Given the description of an element on the screen output the (x, y) to click on. 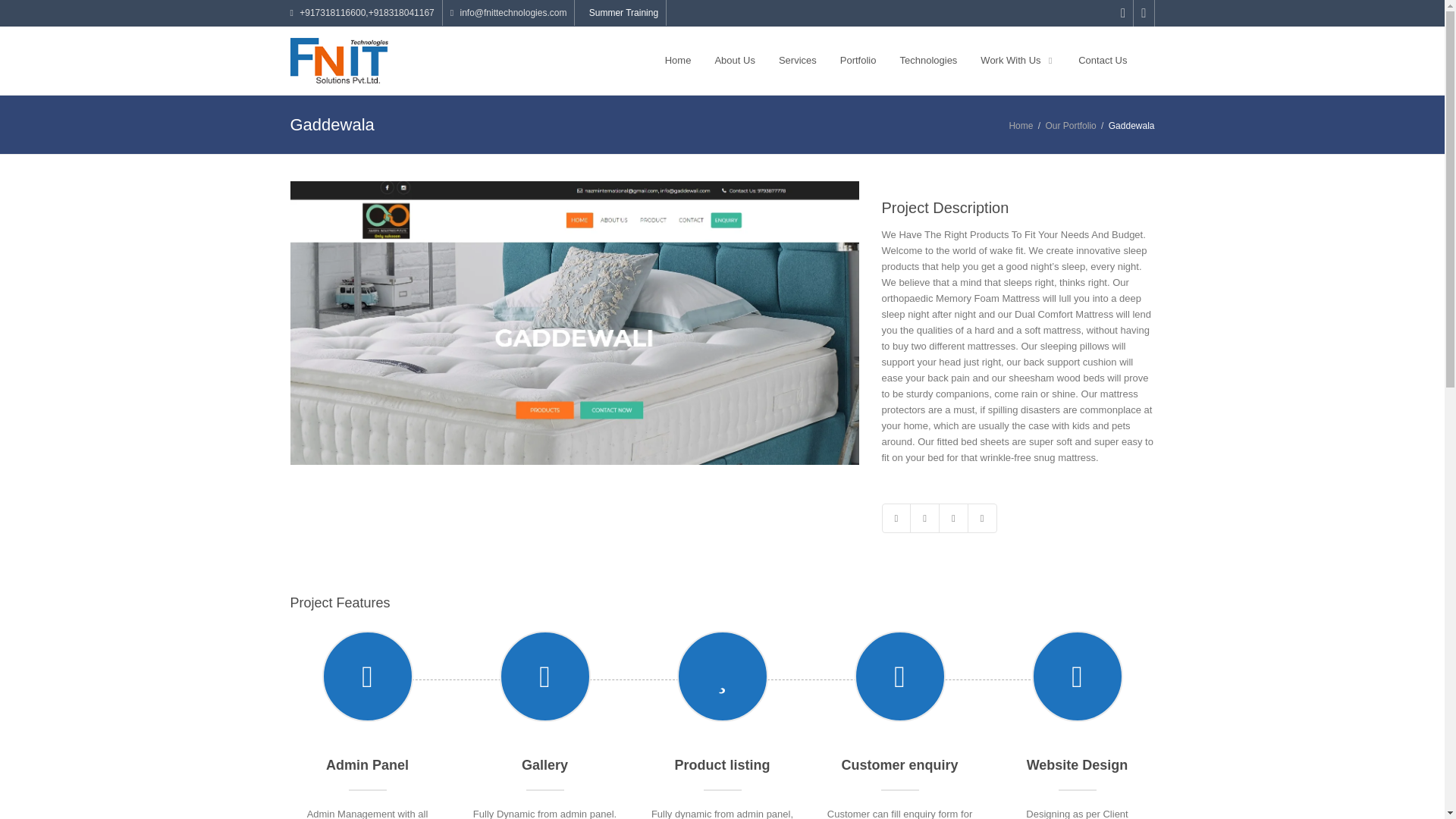
Fnit Solutions Contact us Page (1102, 60)
Fnit Solutions Portfolio Page (858, 60)
Summer Training (620, 12)
Services (797, 60)
Fnit Solutions Work With Us (1017, 60)
Contact Us (1102, 60)
Technologies (928, 60)
Home (1020, 125)
Fnit Solutions Pvt. Ltd. (338, 60)
Fnit Solutions Services Page (797, 60)
